Given the description of an element on the screen output the (x, y) to click on. 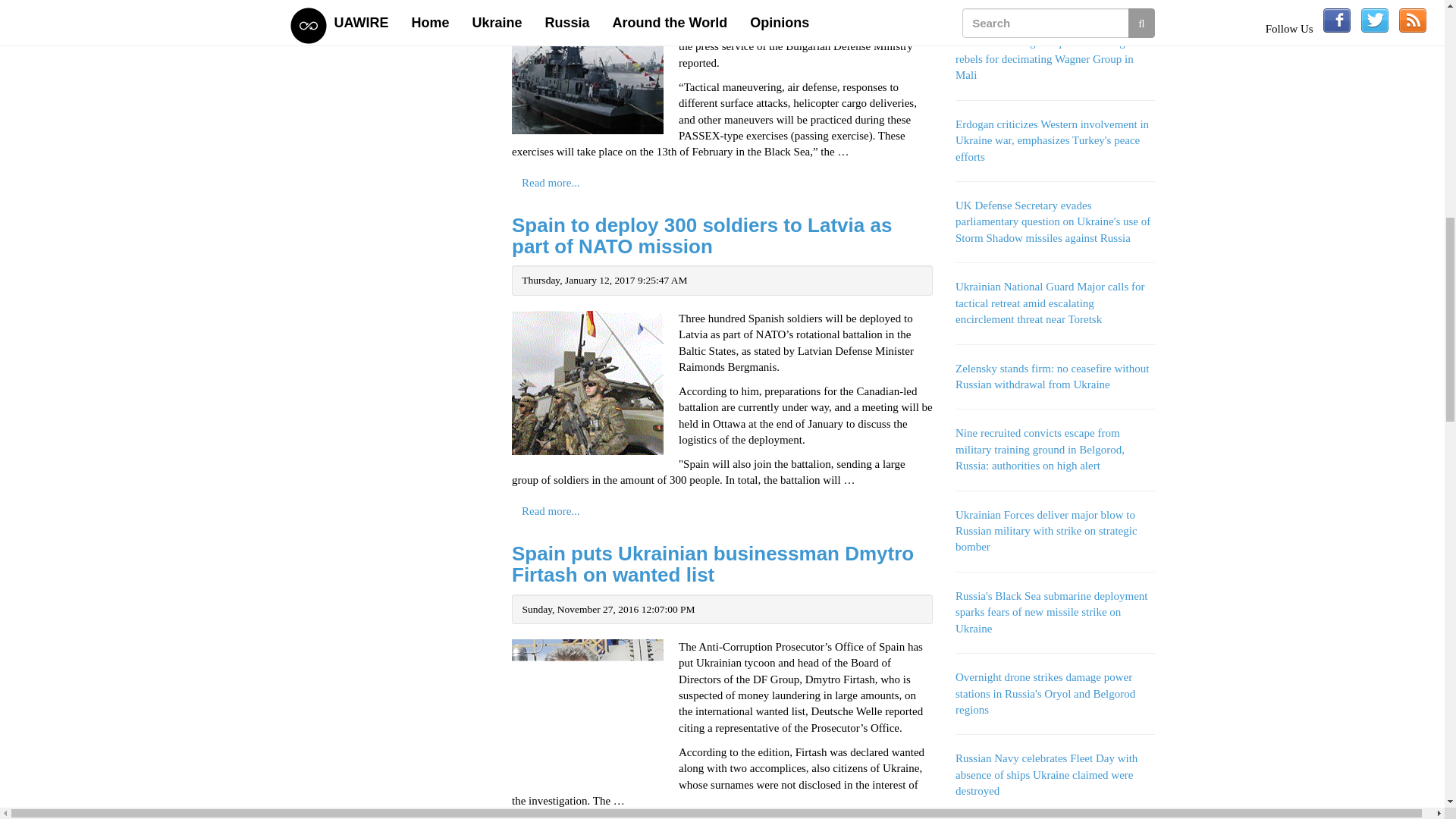
Read more... (550, 511)
Read more... (550, 818)
Read more... (550, 183)
